Given the description of an element on the screen output the (x, y) to click on. 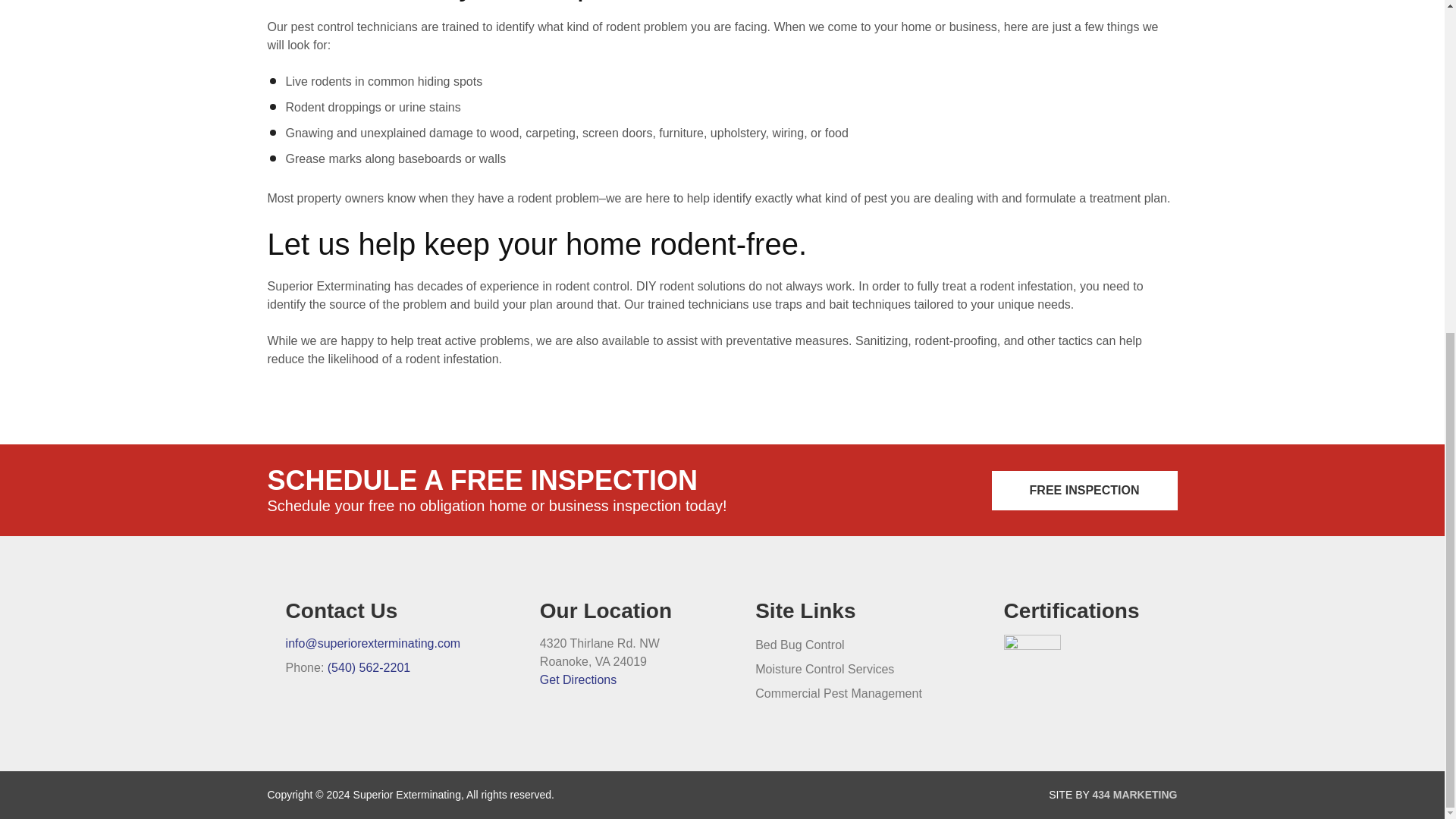
Bed Bug Control (799, 644)
434 MARKETING (1134, 794)
Get Directions (577, 679)
Commercial Pest Management (838, 693)
Moisture Control Services (824, 668)
